Given the description of an element on the screen output the (x, y) to click on. 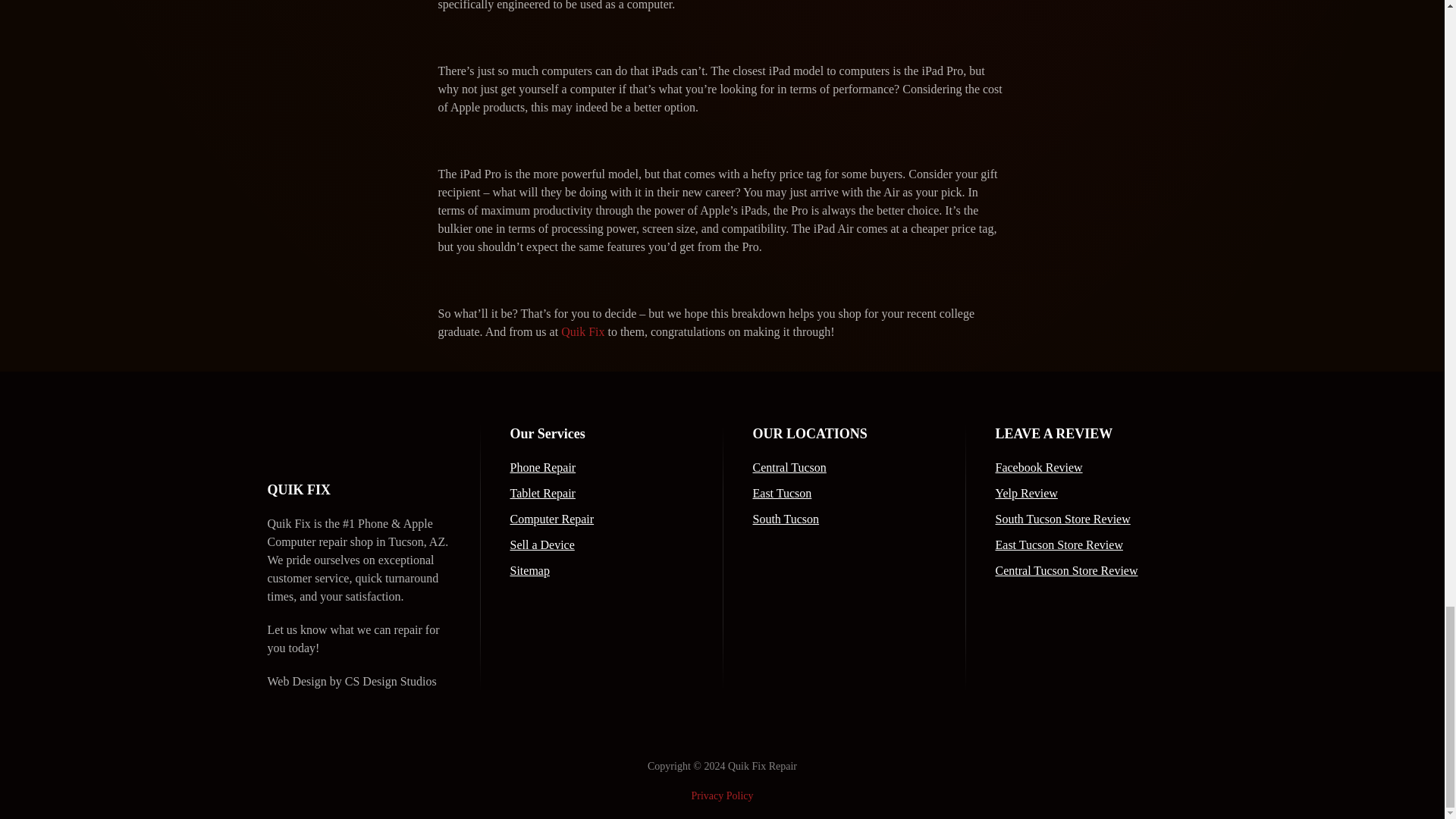
South Tucson (843, 519)
East Tucson (843, 493)
Quik Fix (582, 331)
Tablet Repair (600, 493)
Phone Repair (600, 467)
Sell a Device (600, 545)
Sitemap (600, 570)
Central Tucson (843, 467)
Computer Repair (600, 519)
